Given the description of an element on the screen output the (x, y) to click on. 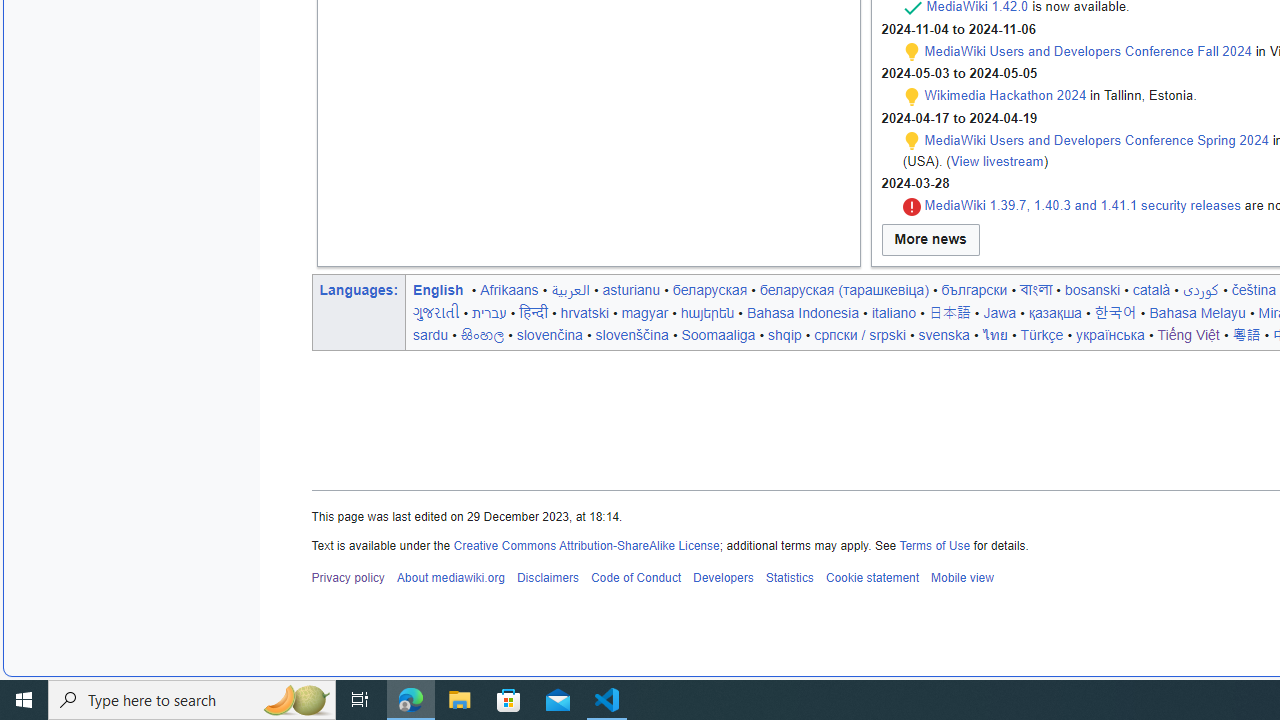
Bahasa Melayu (1197, 312)
italiano (893, 312)
sardu (431, 334)
Languages: (358, 289)
bosanski (1092, 289)
Bahasa Indonesia (802, 312)
Statistics (789, 578)
Mobile view (962, 578)
